Given the description of an element on the screen output the (x, y) to click on. 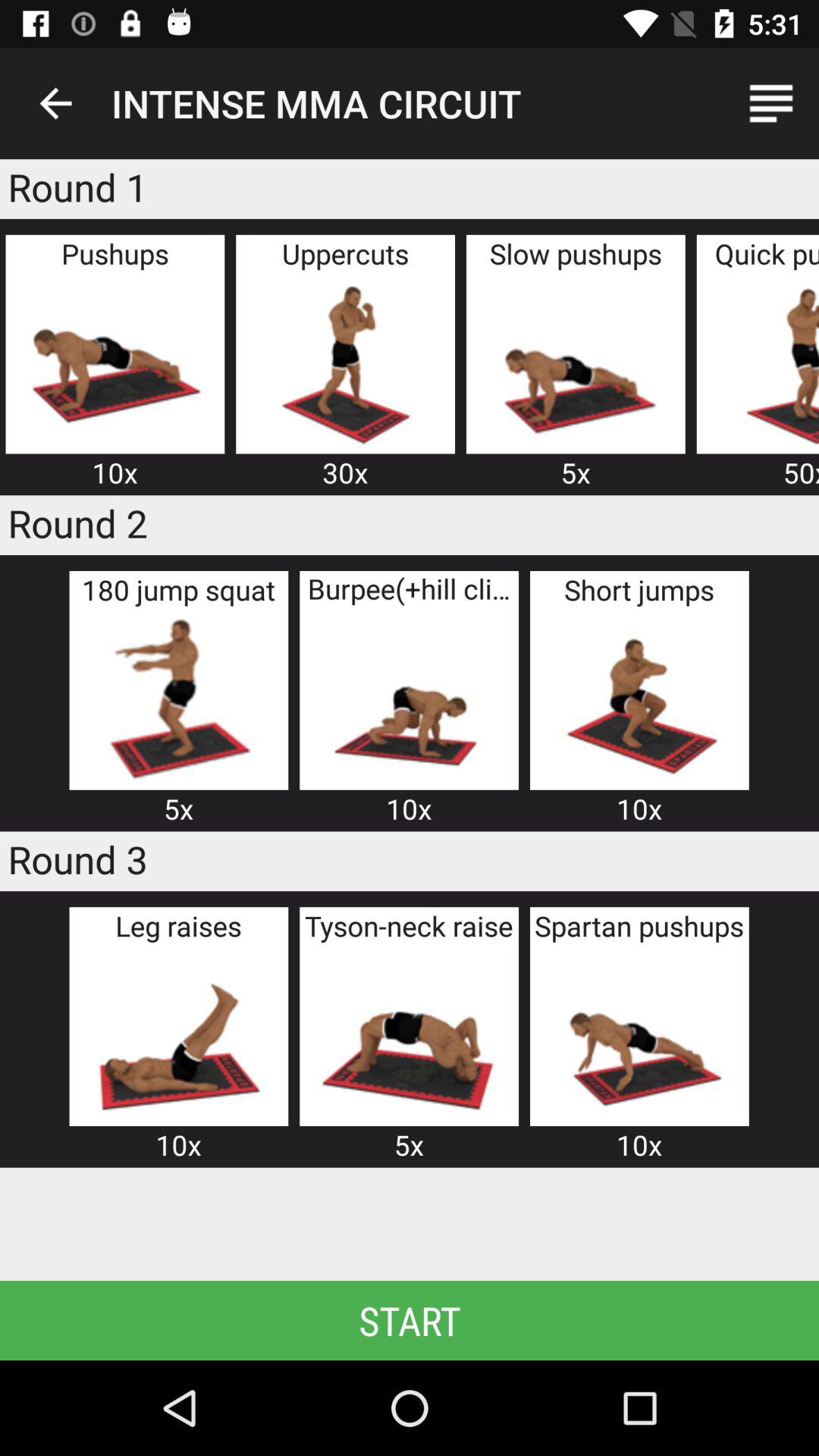
click icon to the left of the intense mma circuit (55, 103)
